Given the description of an element on the screen output the (x, y) to click on. 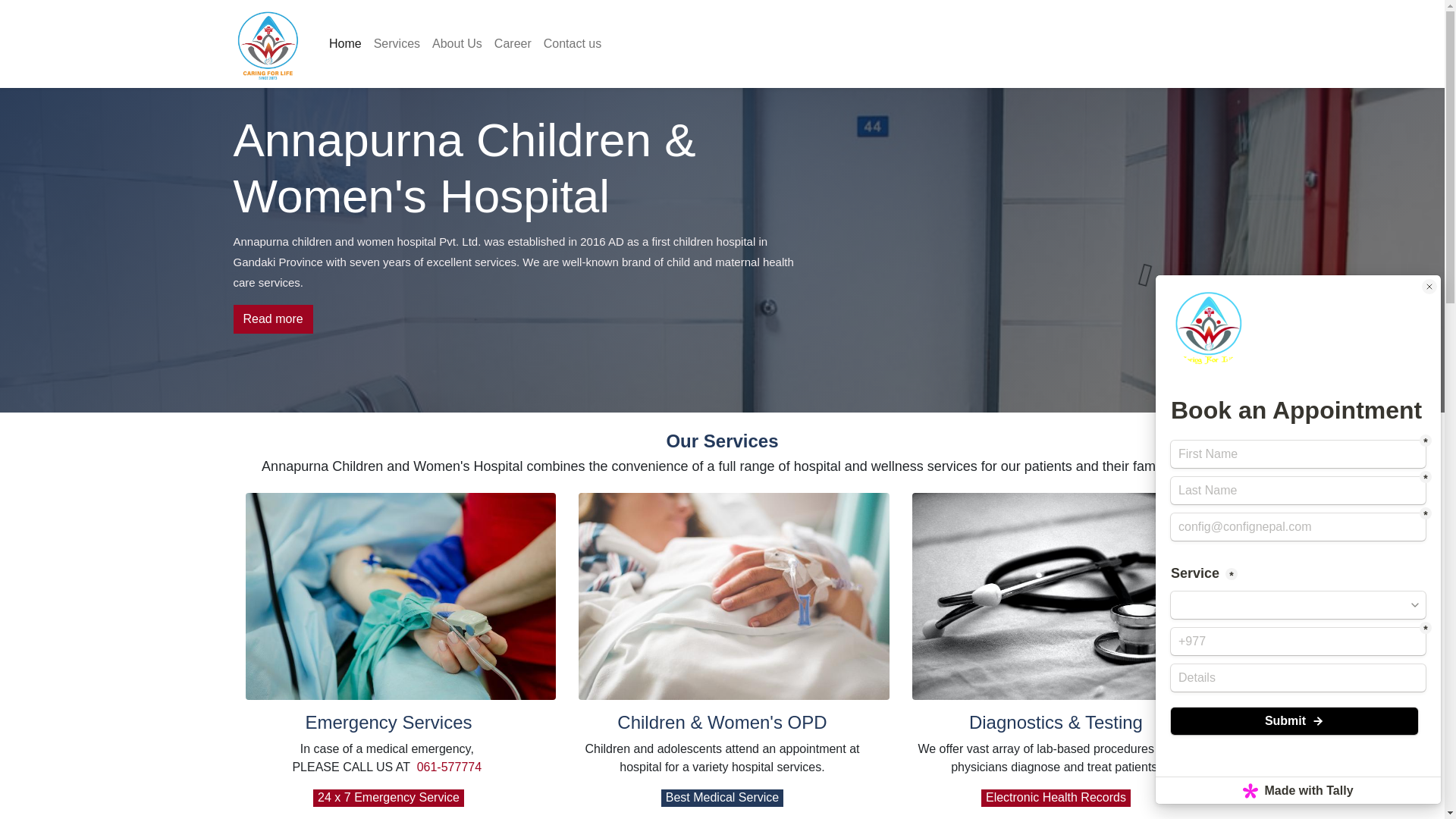
Career (512, 43)
Contact us (572, 43)
About Us (456, 43)
Home (345, 43)
annapurna (268, 43)
061-577774 (448, 766)
Read more (272, 318)
Services (397, 43)
